Given the description of an element on the screen output the (x, y) to click on. 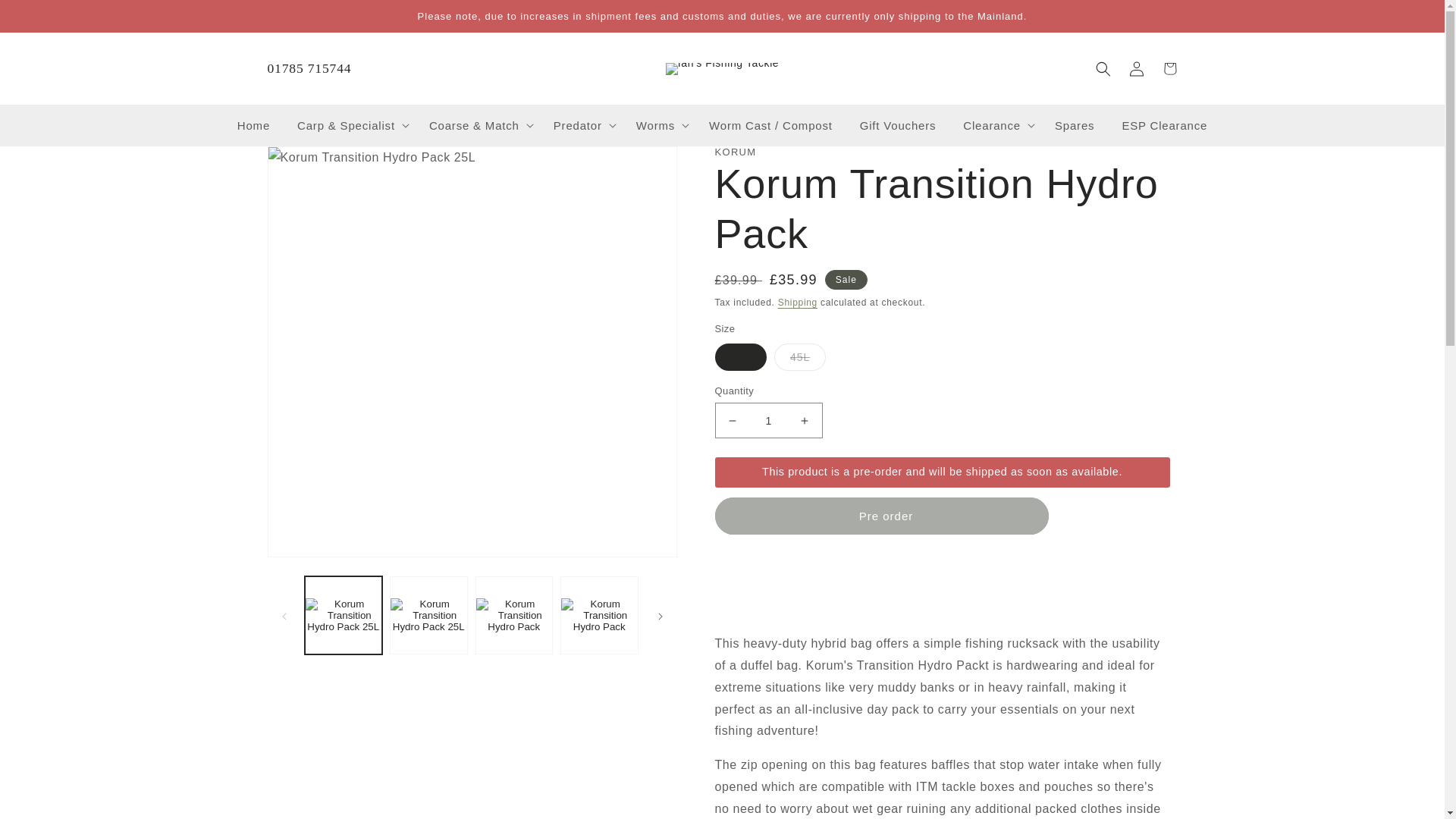
Skip to content (46, 18)
1 (768, 420)
